Given the description of an element on the screen output the (x, y) to click on. 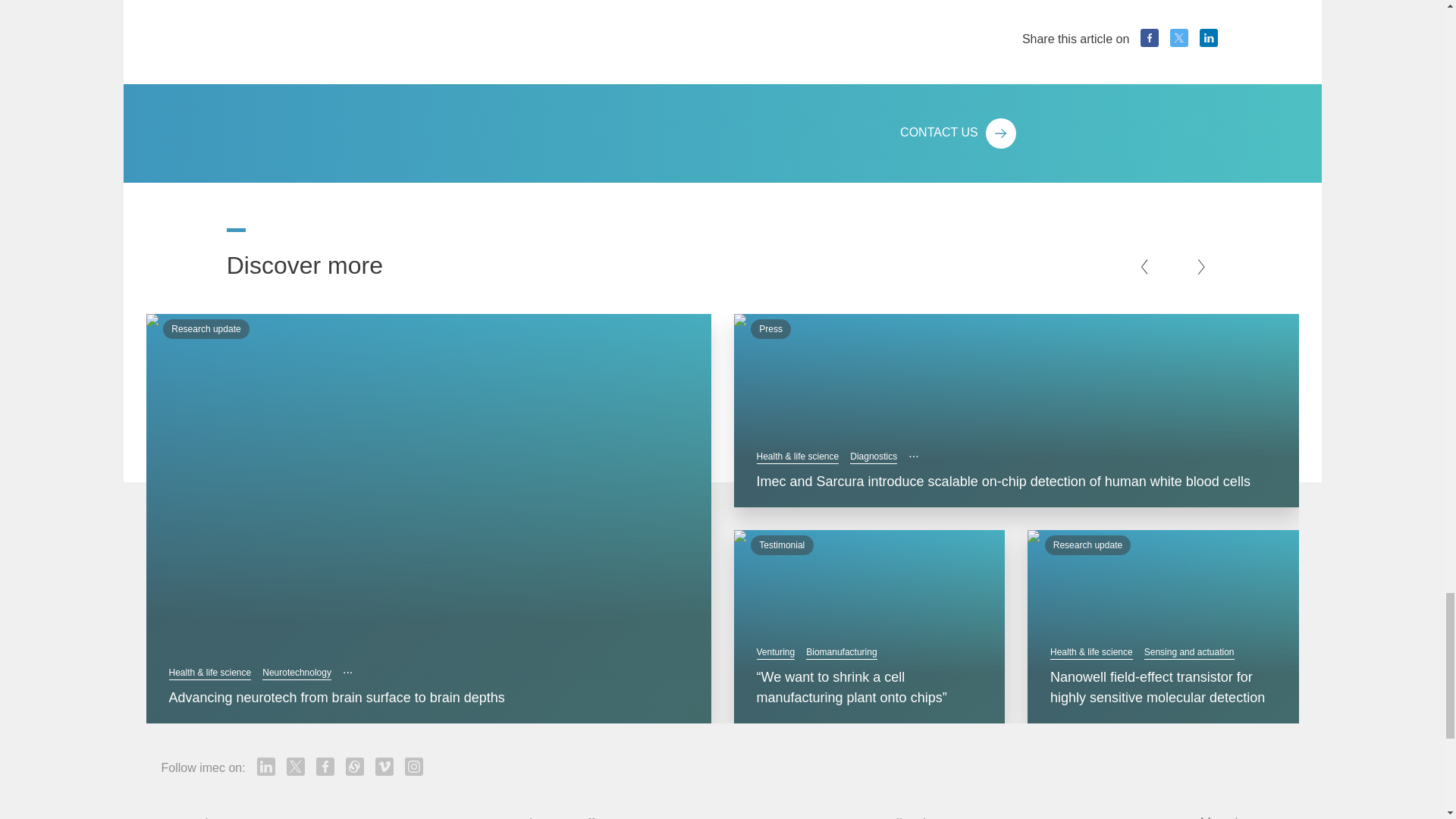
Swivle (355, 462)
Facebook (324, 462)
Vimeo (384, 462)
LinkedIn (266, 462)
Instagram (413, 462)
X (295, 462)
